Given the description of an element on the screen output the (x, y) to click on. 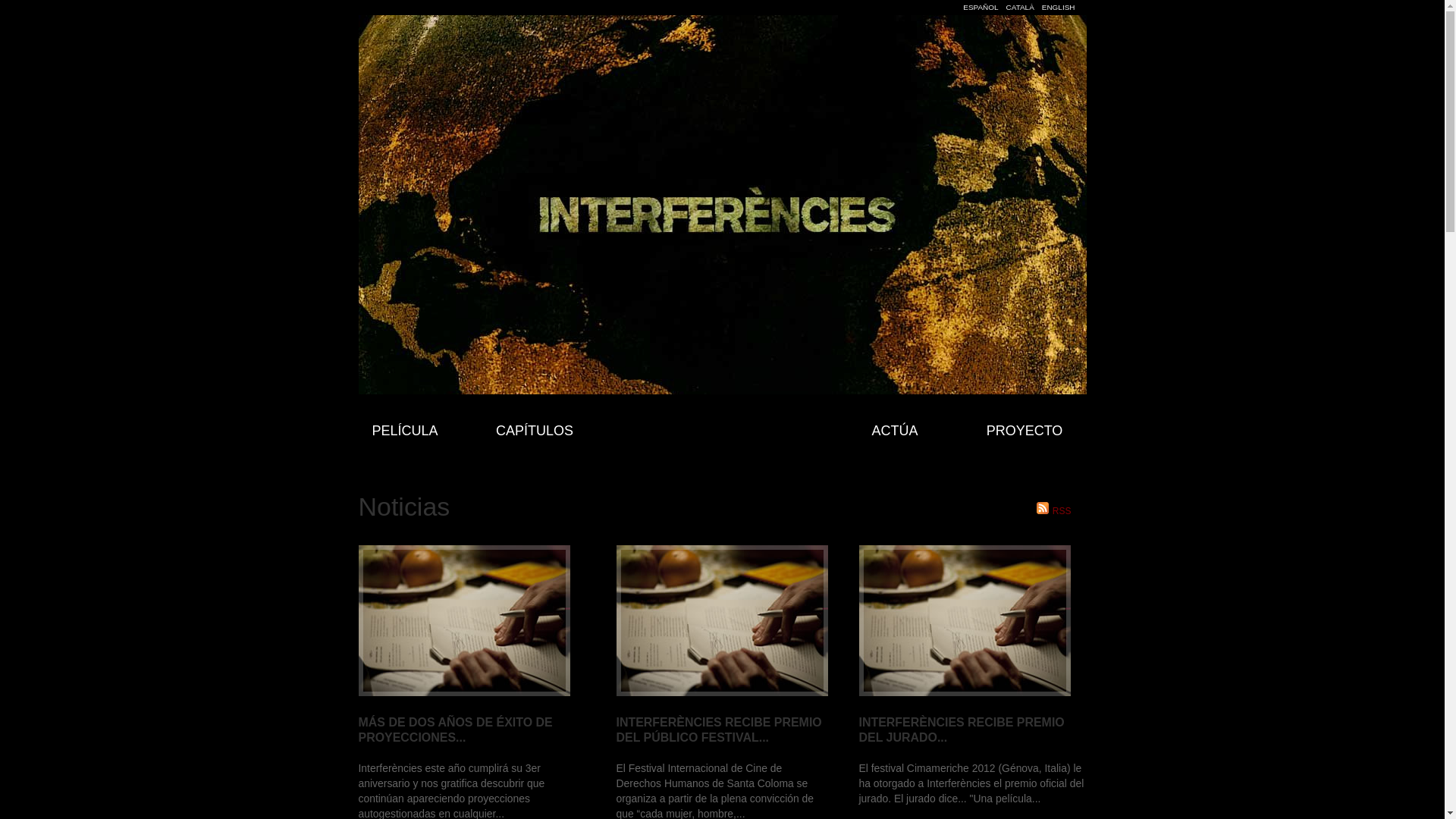
PROYECTO Element type: text (1024, 430)
Comprar DVD Element type: hover (1018, 39)
Trailer 1 Element type: hover (721, 216)
  Element type: text (964, 620)
Descargar Element type: hover (1058, 39)
INICIO Element type: text (721, 426)
Enviar a un amigo Element type: hover (979, 39)
Play Element type: text (722, 298)
  Element type: text (721, 620)
Compartir en Twitter Element type: hover (940, 39)
RSS Element type: text (1053, 510)
  Element type: text (463, 620)
Compartir en Facebook Element type: hover (901, 39)
